Given the description of an element on the screen output the (x, y) to click on. 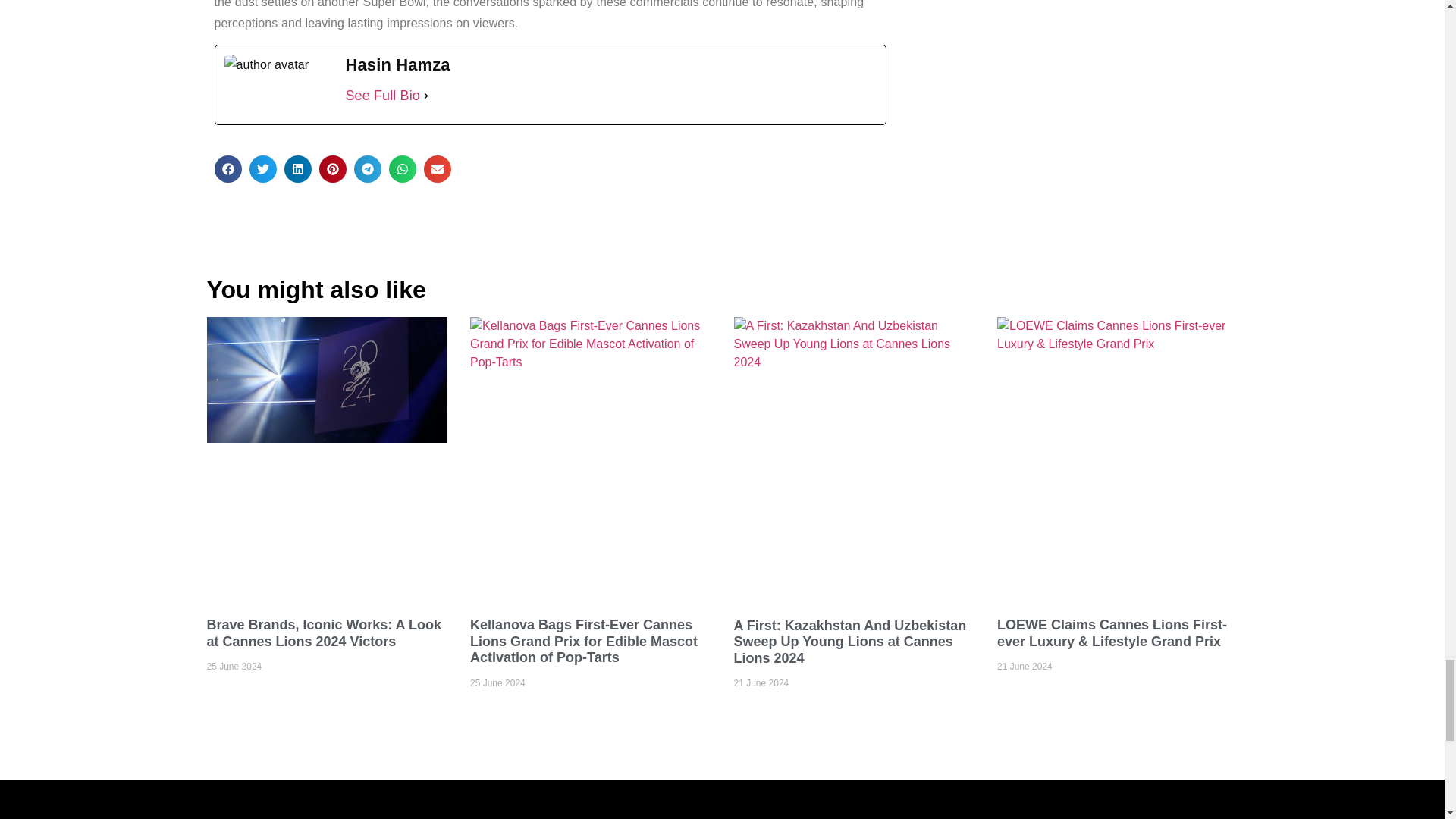
See Full Bio (383, 95)
